Given the description of an element on the screen output the (x, y) to click on. 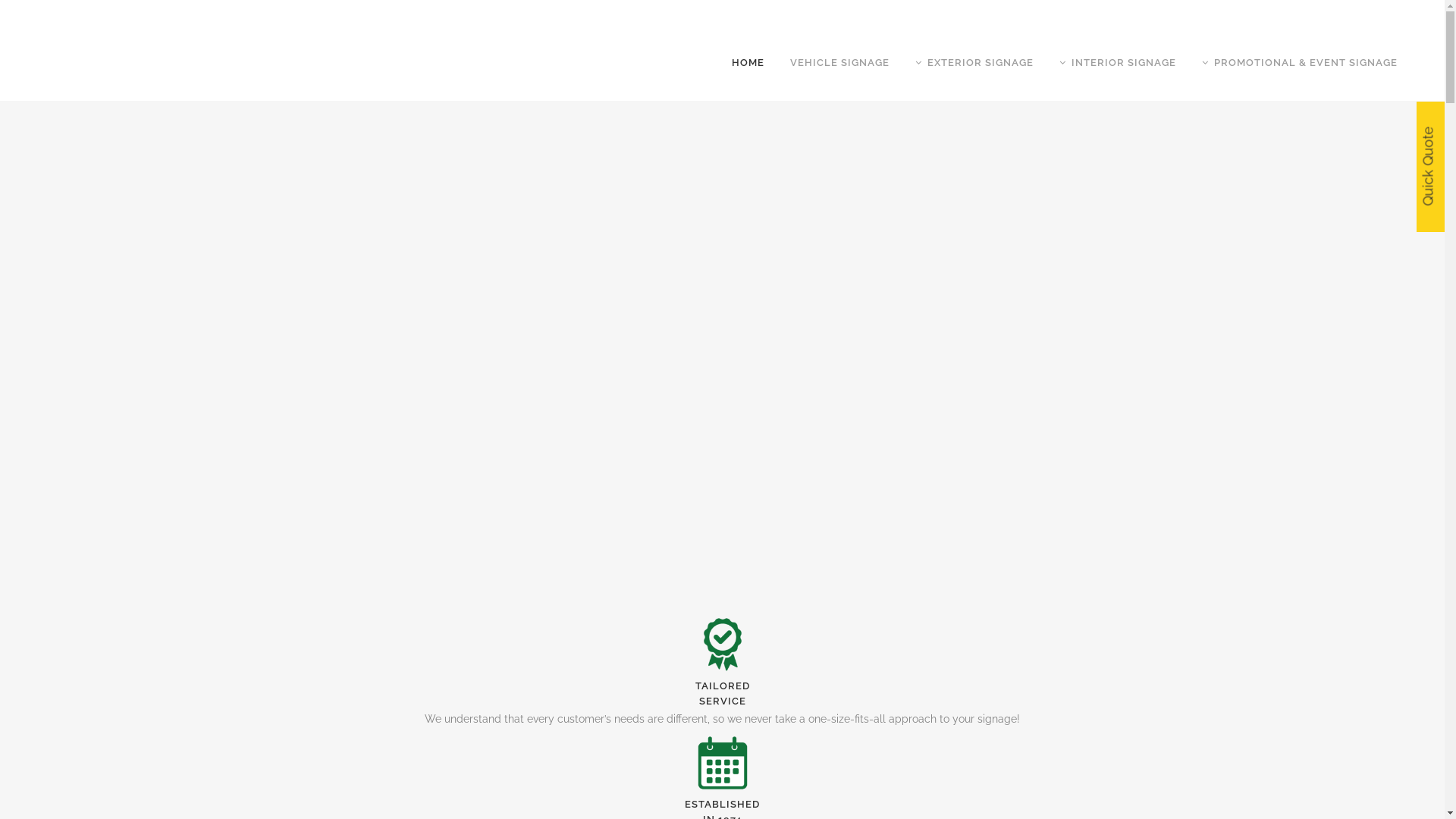
CONTACT Element type: text (1298, 12)
pod_web1 Element type: hover (722, 644)
HOME Element type: text (747, 62)
EXTERIOR SIGNAGE Element type: text (974, 62)
pod_web2 Element type: hover (722, 762)
(08) 8345 3177 Element type: text (1383, 12)
INTERIOR SIGNAGE Element type: text (1117, 62)
ABOUT US Element type: text (1226, 12)
VEHICLE SIGNAGE Element type: text (839, 62)
PROMOTIONAL & EVENT SIGNAGE Element type: text (1299, 62)
